Given the description of an element on the screen output the (x, y) to click on. 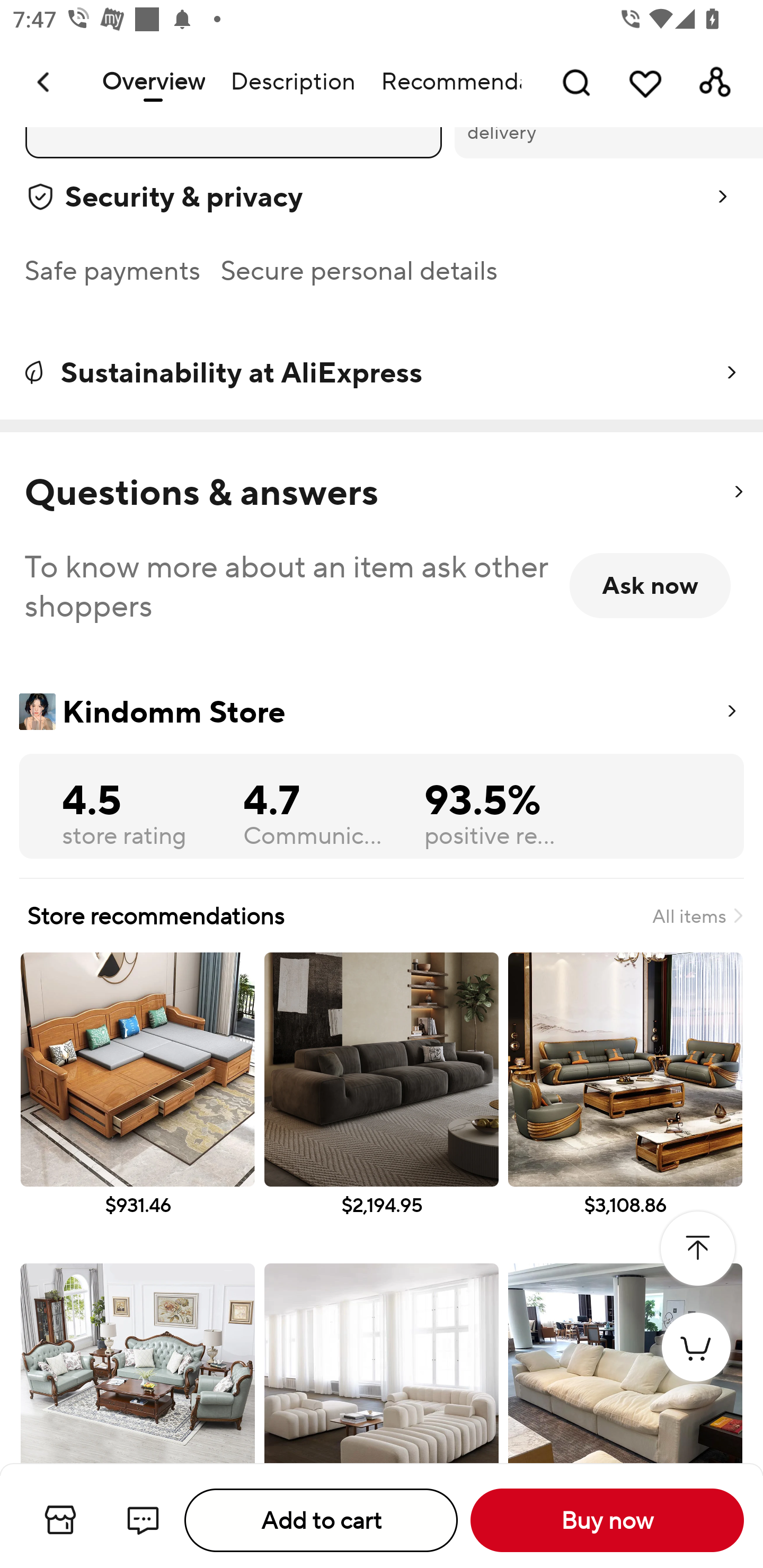
Navigate up (44, 82)
Description (292, 81)
Recommendations (444, 81)
Sustainability at AliExpress  (381, 373)
 (737, 491)
To know more about an item ask other shoppers (288, 585)
Ask now (649, 585)
All items (697, 915)
$931.46 (137, 1102)
$2,194.95 (381, 1102)
$3,108.86 (625, 1102)
 (697, 1248)
Add to cart (320, 1520)
Buy now (606, 1520)
